Given the description of an element on the screen output the (x, y) to click on. 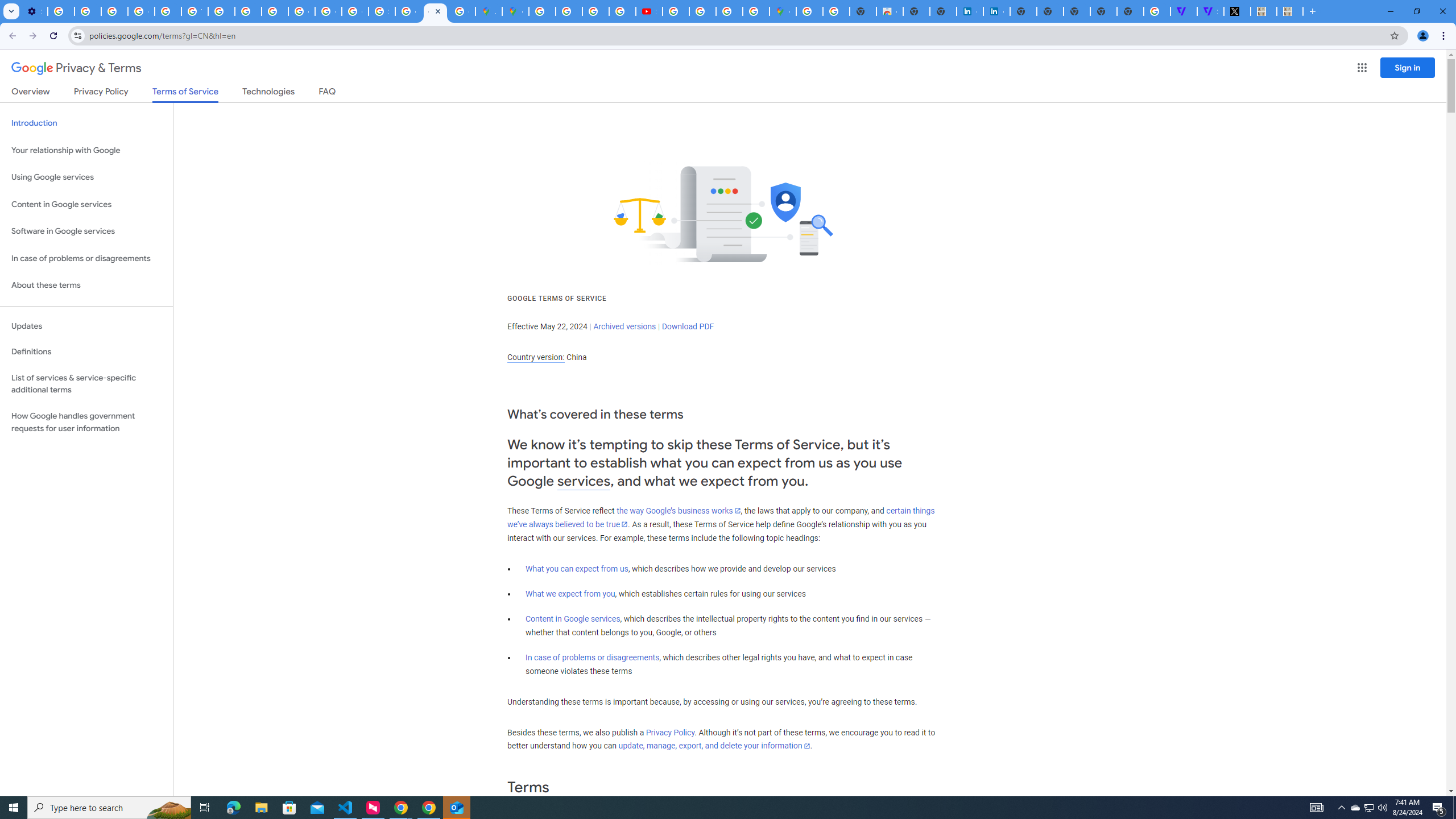
Privacy Help Center - Policies Help (248, 11)
Country version: (535, 357)
Software in Google services (86, 230)
YouTube (194, 11)
Content in Google services (572, 618)
Sign in - Google Accounts (382, 11)
Google Maps (515, 11)
